Given the description of an element on the screen output the (x, y) to click on. 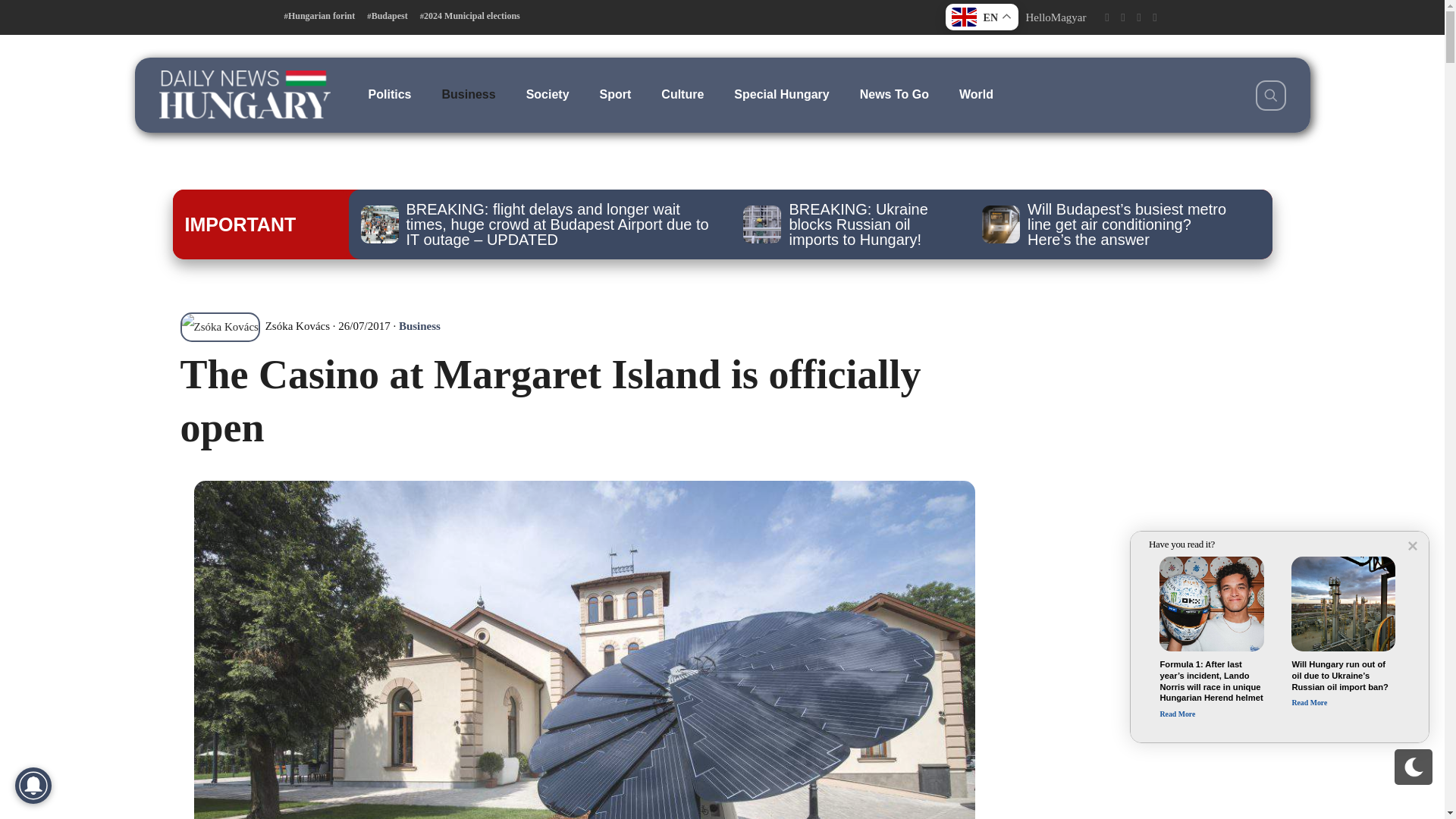
Instagram (1138, 17)
HelloMagyar (1055, 17)
2024 Municipal elections (469, 15)
Facebook (1106, 17)
Politics (389, 94)
RSS (1155, 17)
Budapest (386, 15)
Daily News Hungary (244, 94)
Hungarian forint (319, 15)
